Given the description of an element on the screen output the (x, y) to click on. 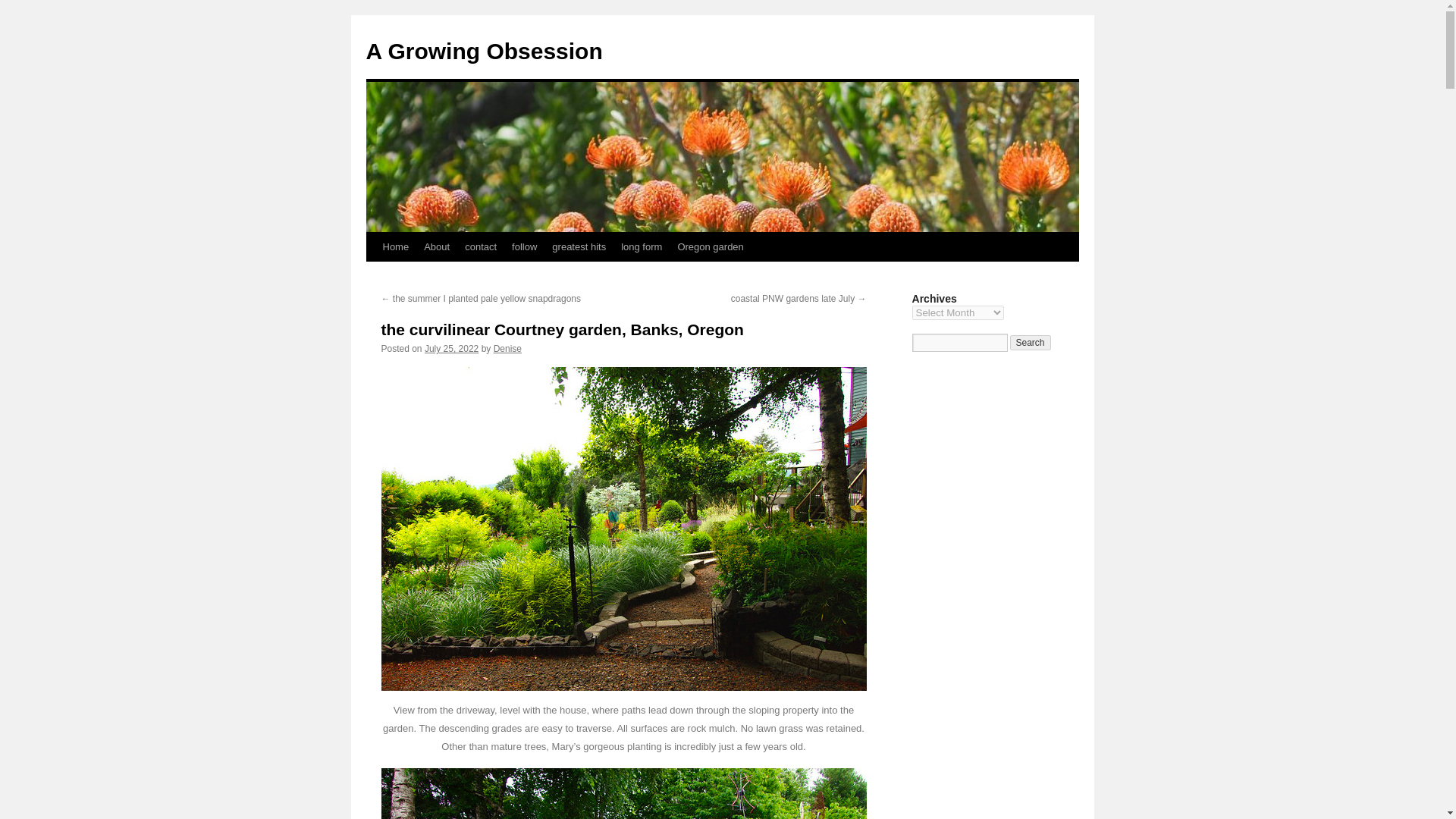
About (436, 246)
greatest hits (578, 246)
July 25, 2022 (452, 348)
follow (523, 246)
Denise (507, 348)
11:58 pm (452, 348)
long form (640, 246)
A Growing Obsession (483, 50)
View all posts by Denise (507, 348)
Oregon garden (710, 246)
A Growing Obsession (483, 50)
contact (480, 246)
Search (1030, 342)
Home (395, 246)
